Given the description of an element on the screen output the (x, y) to click on. 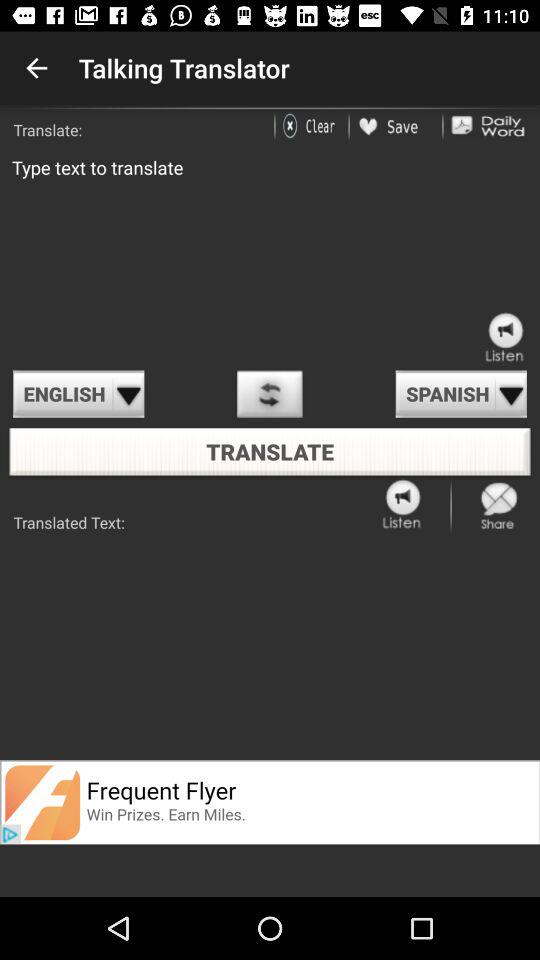
daily word (488, 125)
